Given the description of an element on the screen output the (x, y) to click on. 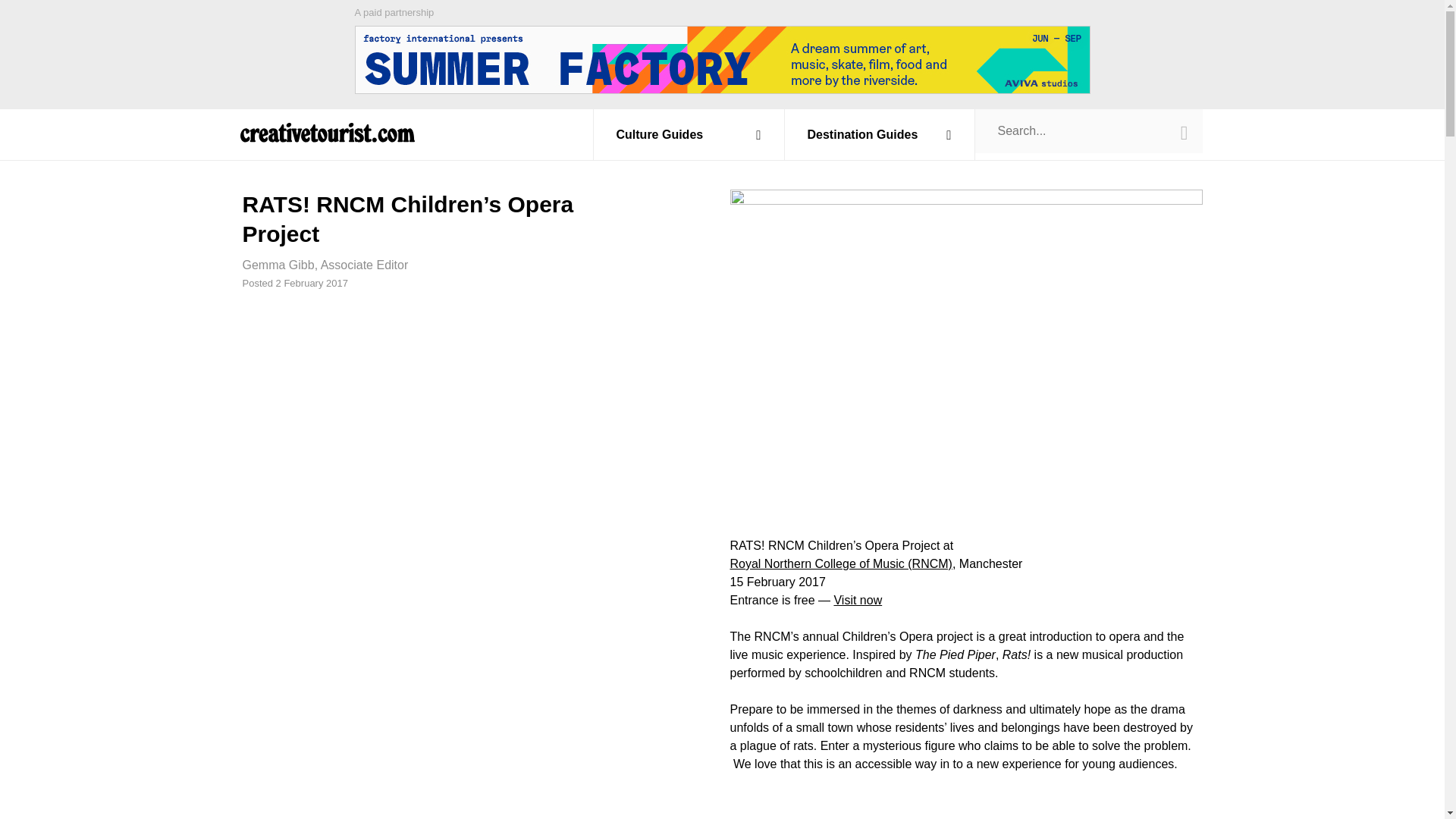
Destination Guides (879, 134)
Visit now (857, 599)
Culture Guides (688, 134)
